Given the description of an element on the screen output the (x, y) to click on. 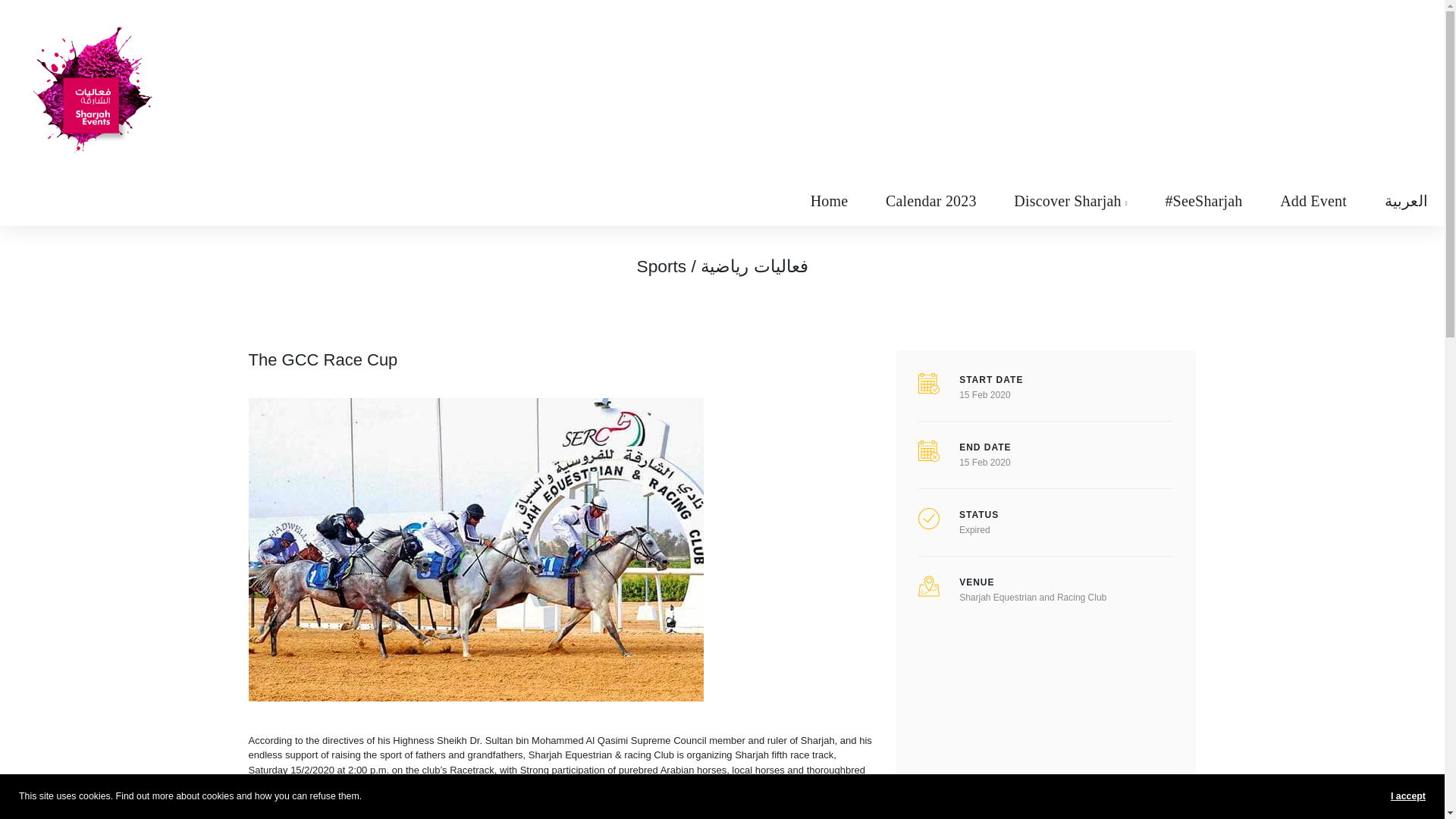
Home (828, 201)
Add Event (1312, 201)
Discover Sharjah (1070, 201)
Calendar 2023 (930, 201)
Sharjah Events (90, 86)
